Given the description of an element on the screen output the (x, y) to click on. 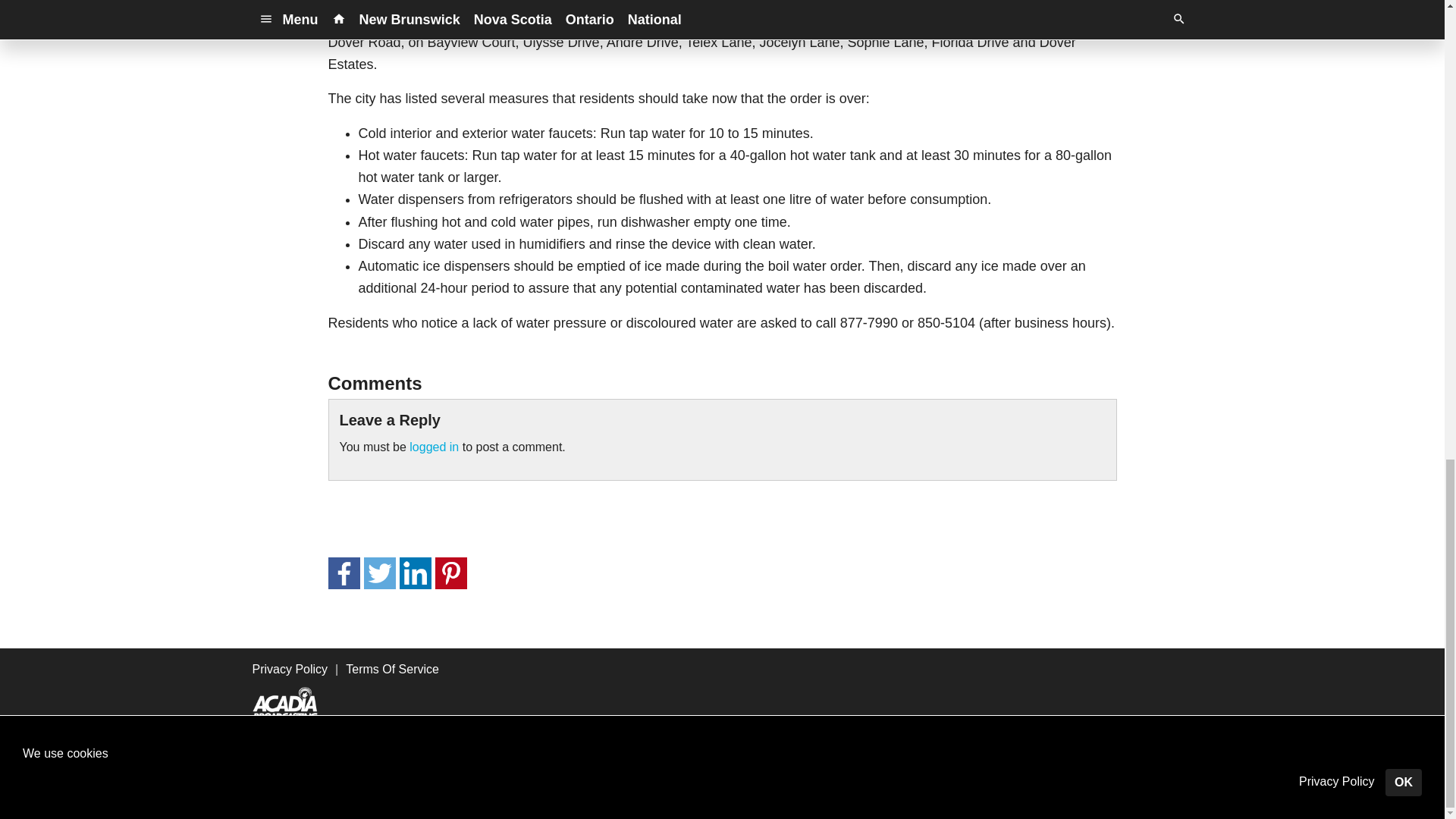
logged in (433, 446)
Terms Of Service (392, 669)
Powered By SoCast (333, 796)
Privacy Policy (577, 772)
Terms of Service (688, 772)
Powered By SoCast (333, 797)
Privacy Policy (289, 669)
